Given the description of an element on the screen output the (x, y) to click on. 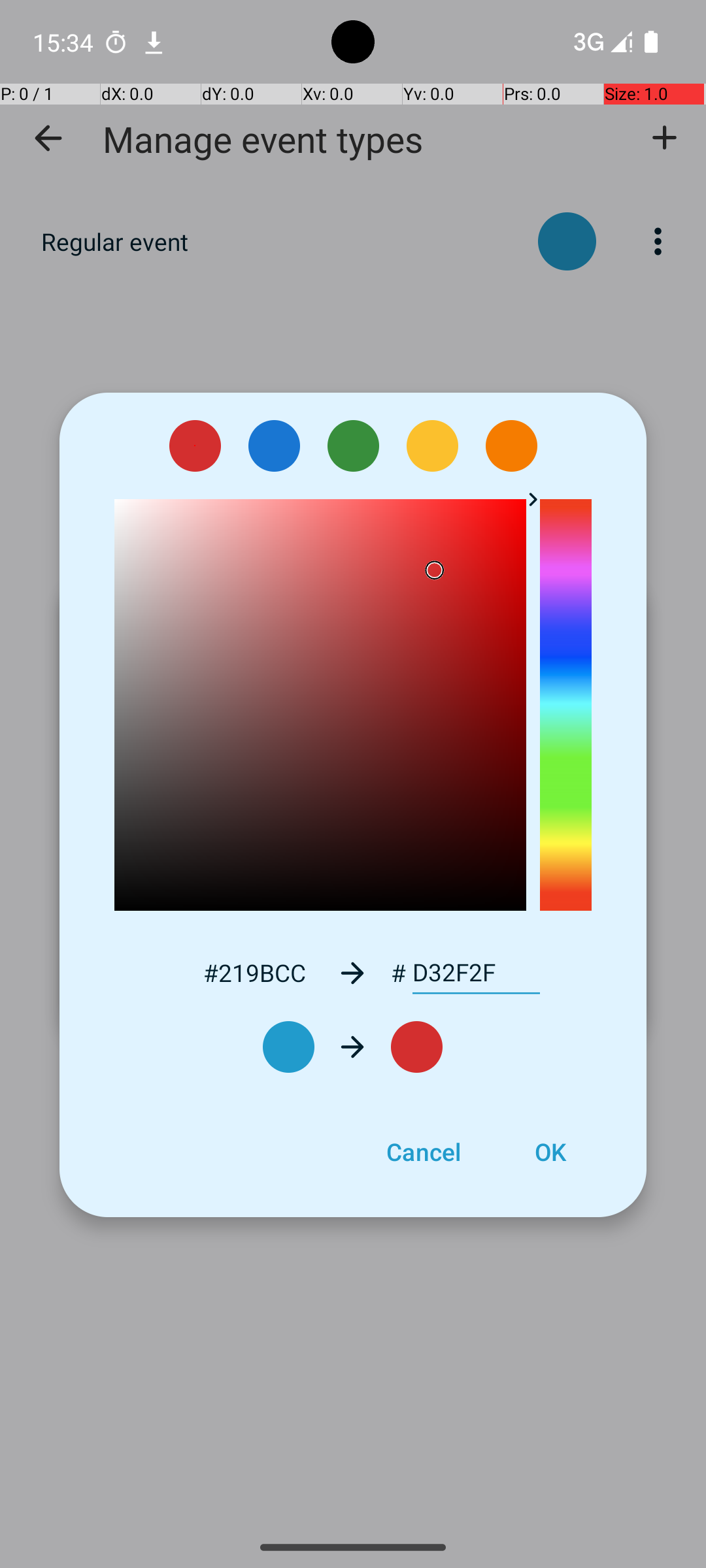
D32F2F Element type: android.widget.EditText (475, 972)
